Given the description of an element on the screen output the (x, y) to click on. 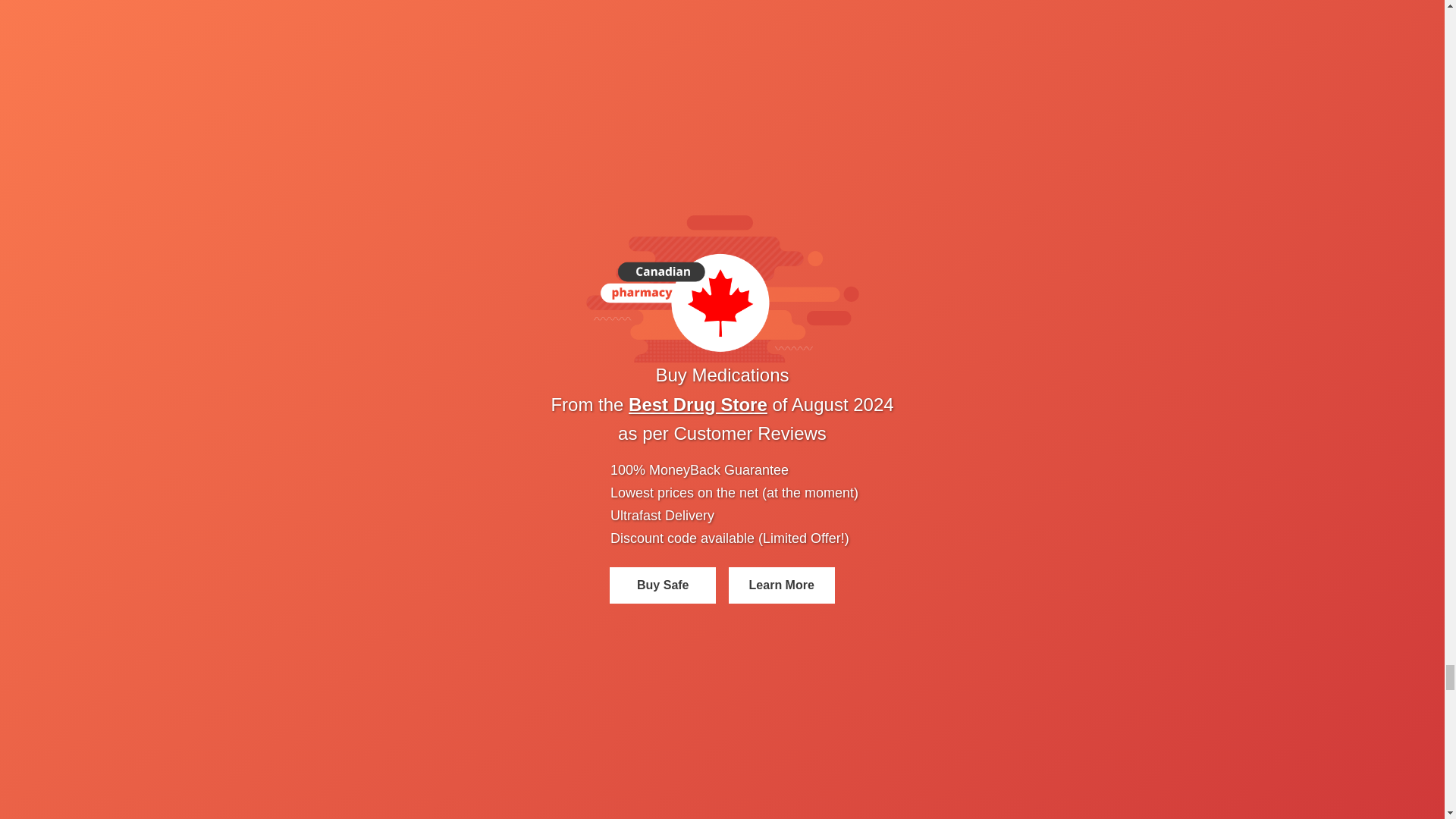
? Search (57, 318)
Our Locations (71, 210)
Mexican Pharmacy Online (76, 7)
About Prime (67, 169)
? Call Today (130, 291)
? Email Us (63, 305)
Quality (54, 224)
Careers (55, 265)
News (50, 196)
Employee Health Plan (90, 251)
Contact Us (33, 20)
Leadership (63, 183)
? Menu (54, 332)
? Call Today (68, 291)
Search (159, 34)
